Given the description of an element on the screen output the (x, y) to click on. 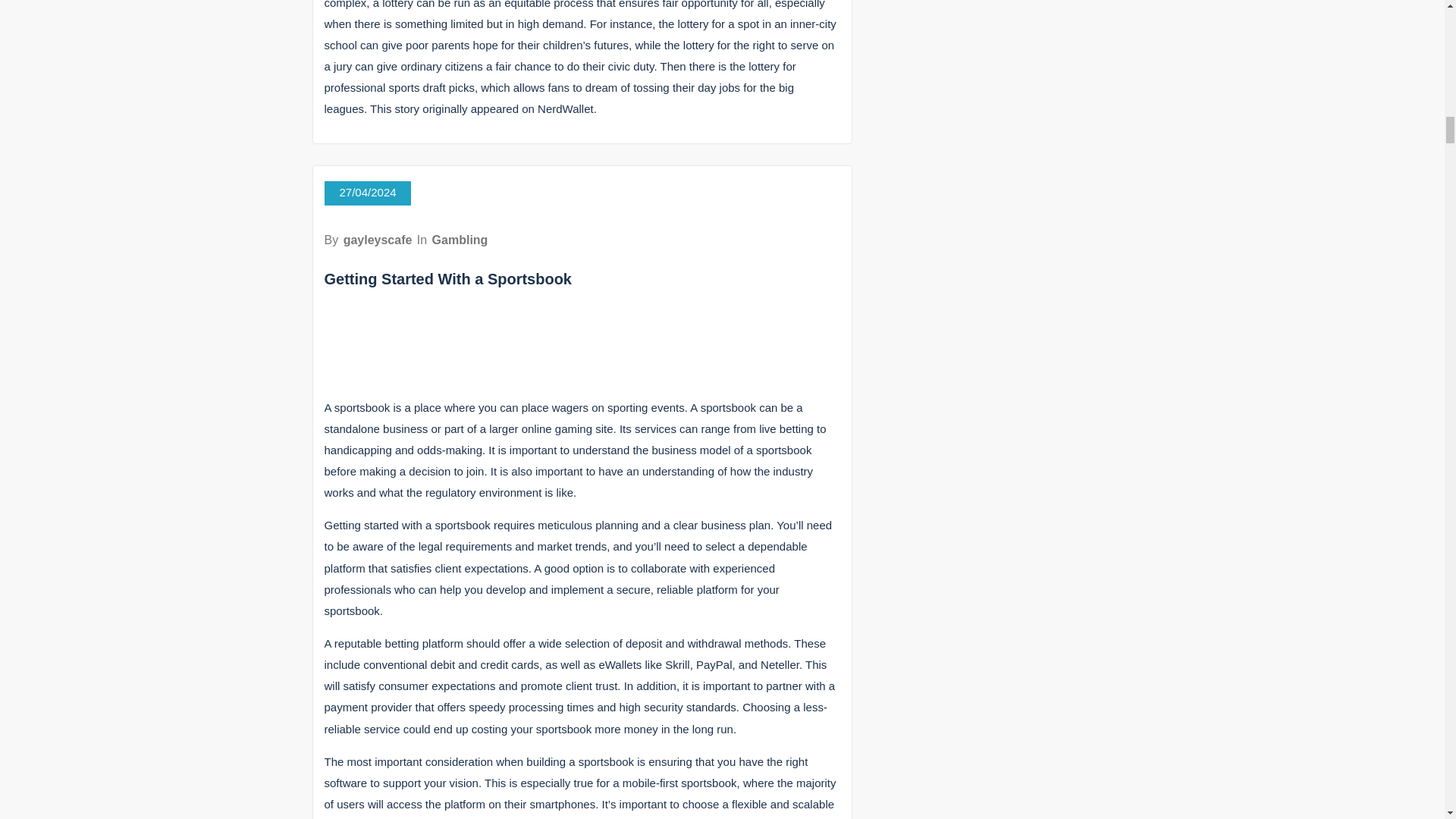
gayleyscafe (377, 239)
Getting Started With a Sportsbook (448, 279)
Gambling (459, 239)
